Given the description of an element on the screen output the (x, y) to click on. 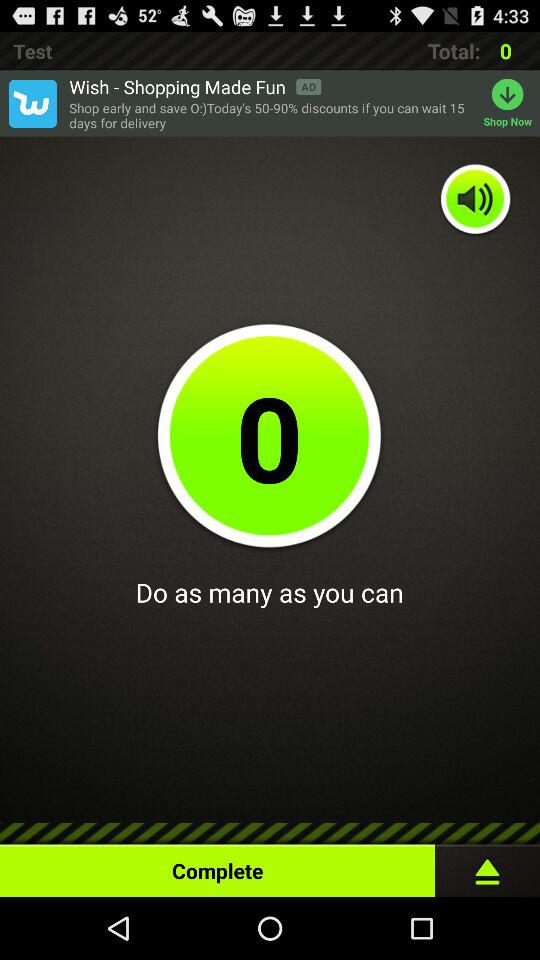
record (487, 866)
